Given the description of an element on the screen output the (x, y) to click on. 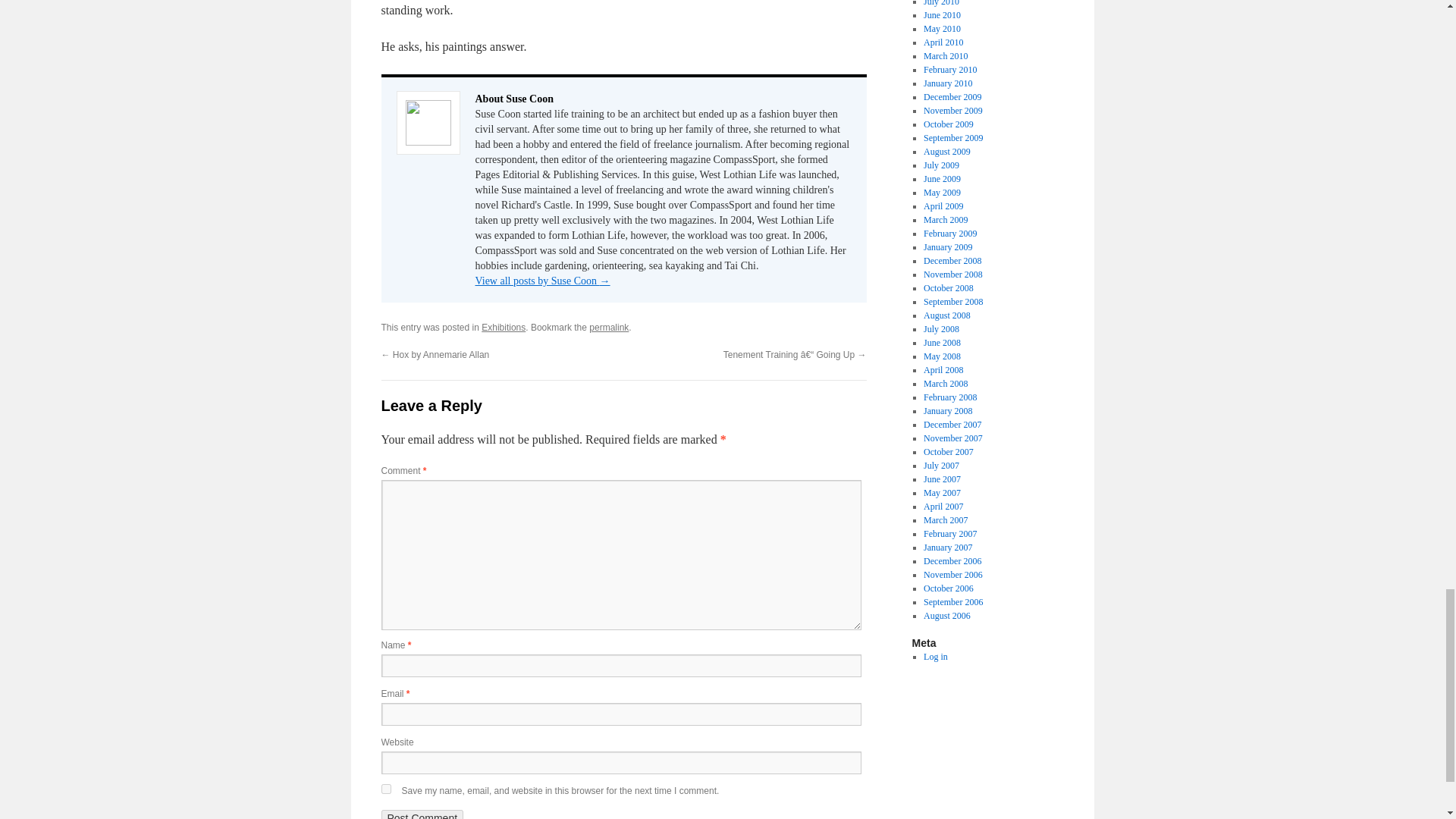
yes (385, 788)
Post Comment (421, 814)
Exhibitions (503, 327)
permalink (608, 327)
Post Comment (421, 814)
